Given the description of an element on the screen output the (x, y) to click on. 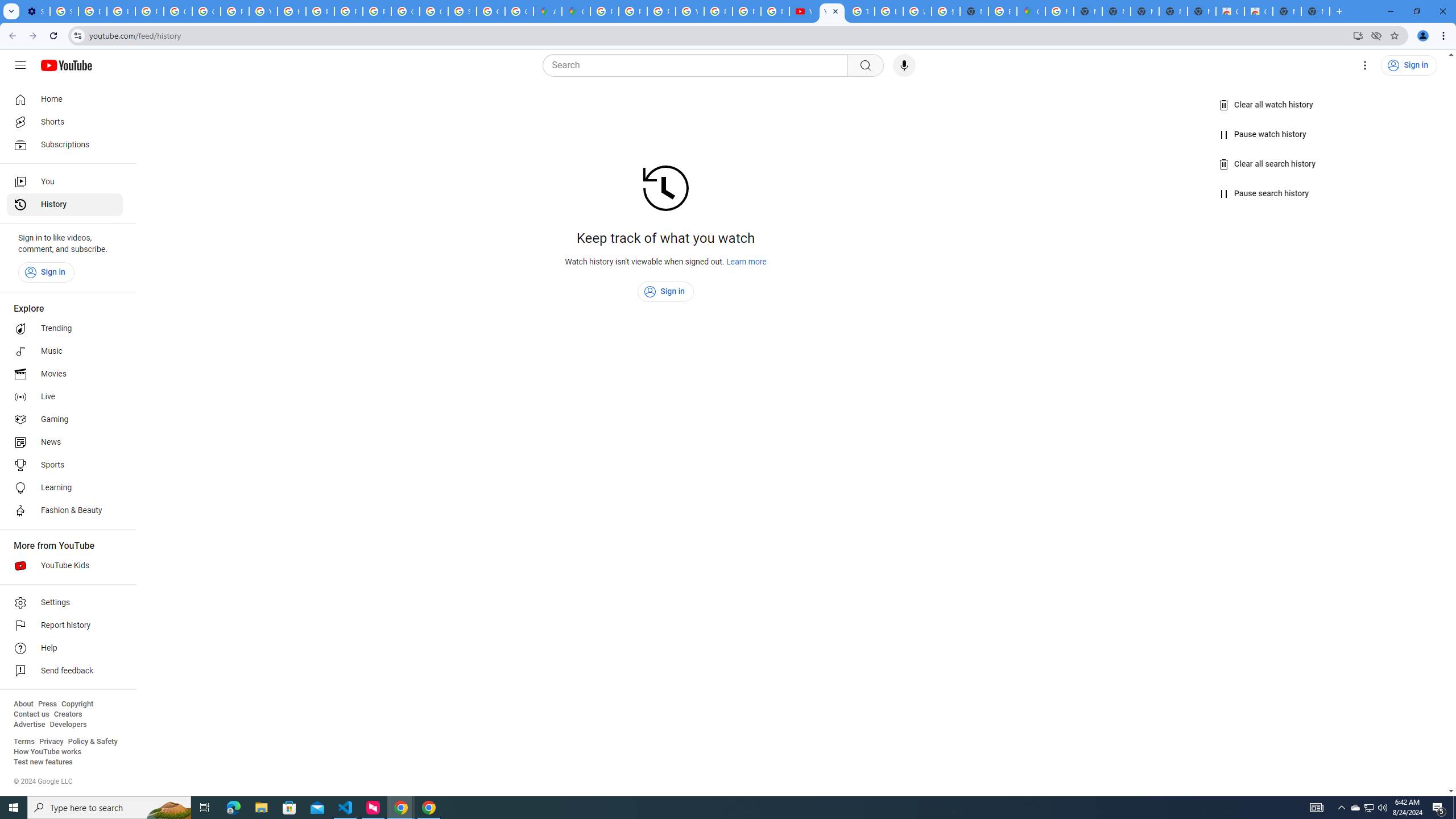
Trending (64, 328)
Advertise (29, 724)
Movies (64, 373)
Search with your voice (903, 65)
YouTube (263, 11)
Fashion & Beauty (64, 510)
Privacy Help Center - Policies Help (632, 11)
